Given the description of an element on the screen output the (x, y) to click on. 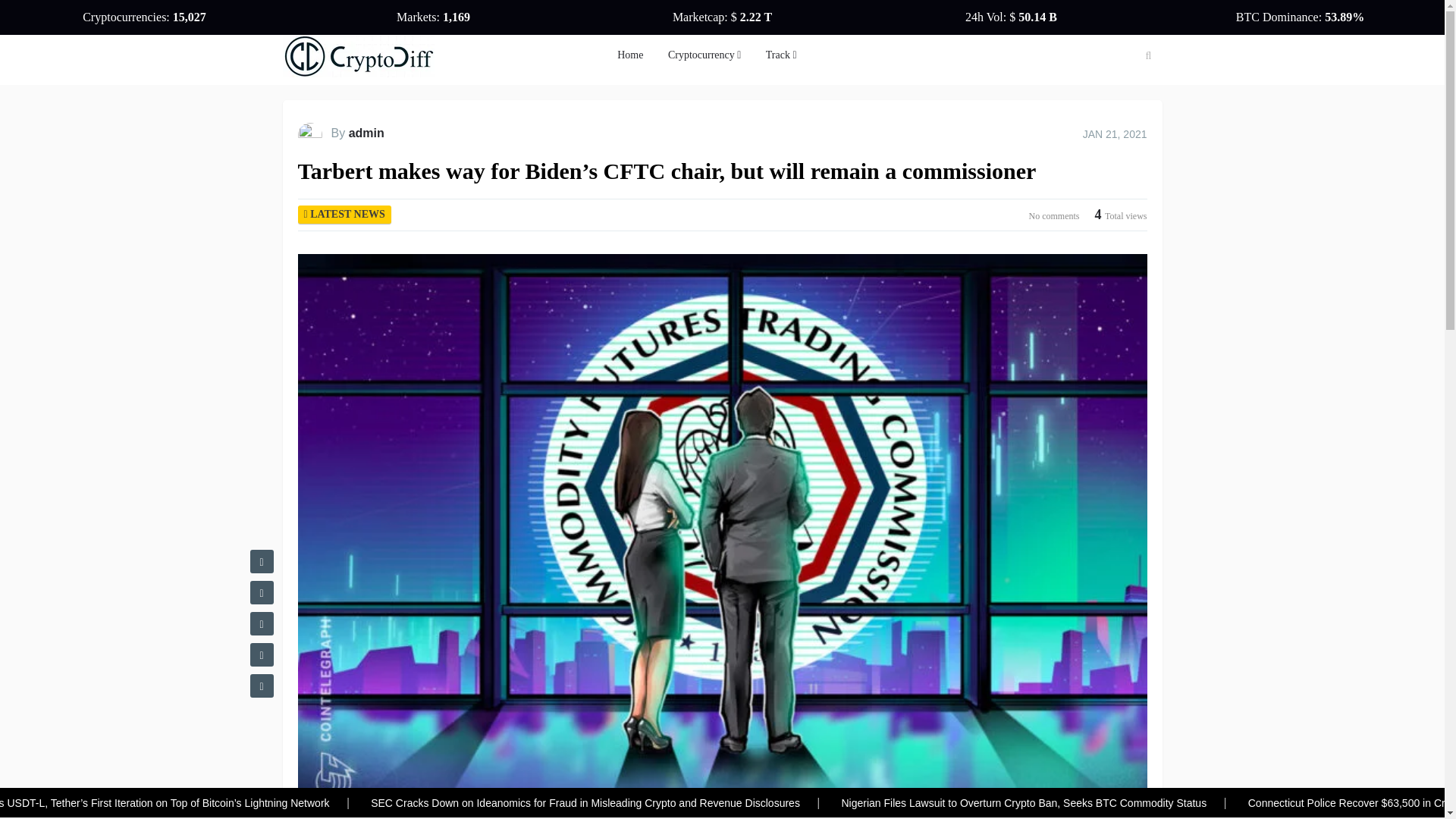
No comments (1054, 214)
Views (1120, 214)
Home (630, 55)
Cryptocurrency (704, 55)
Posts by admin (366, 132)
Track (781, 55)
View all posts in Latest News (347, 214)
LATEST NEWS (347, 214)
admin (366, 132)
